Given the description of an element on the screen output the (x, y) to click on. 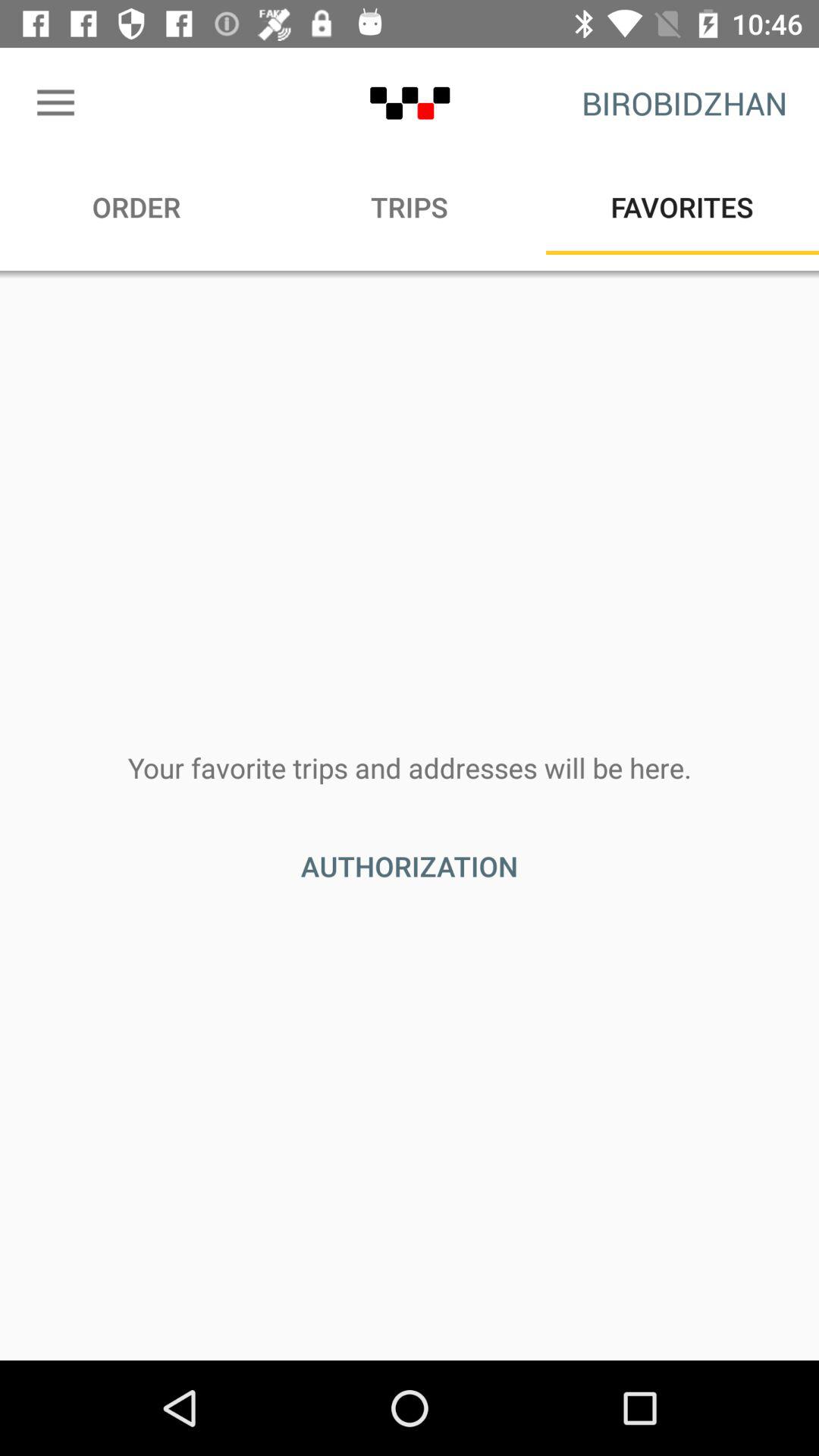
swipe to authorization (409, 865)
